Given the description of an element on the screen output the (x, y) to click on. 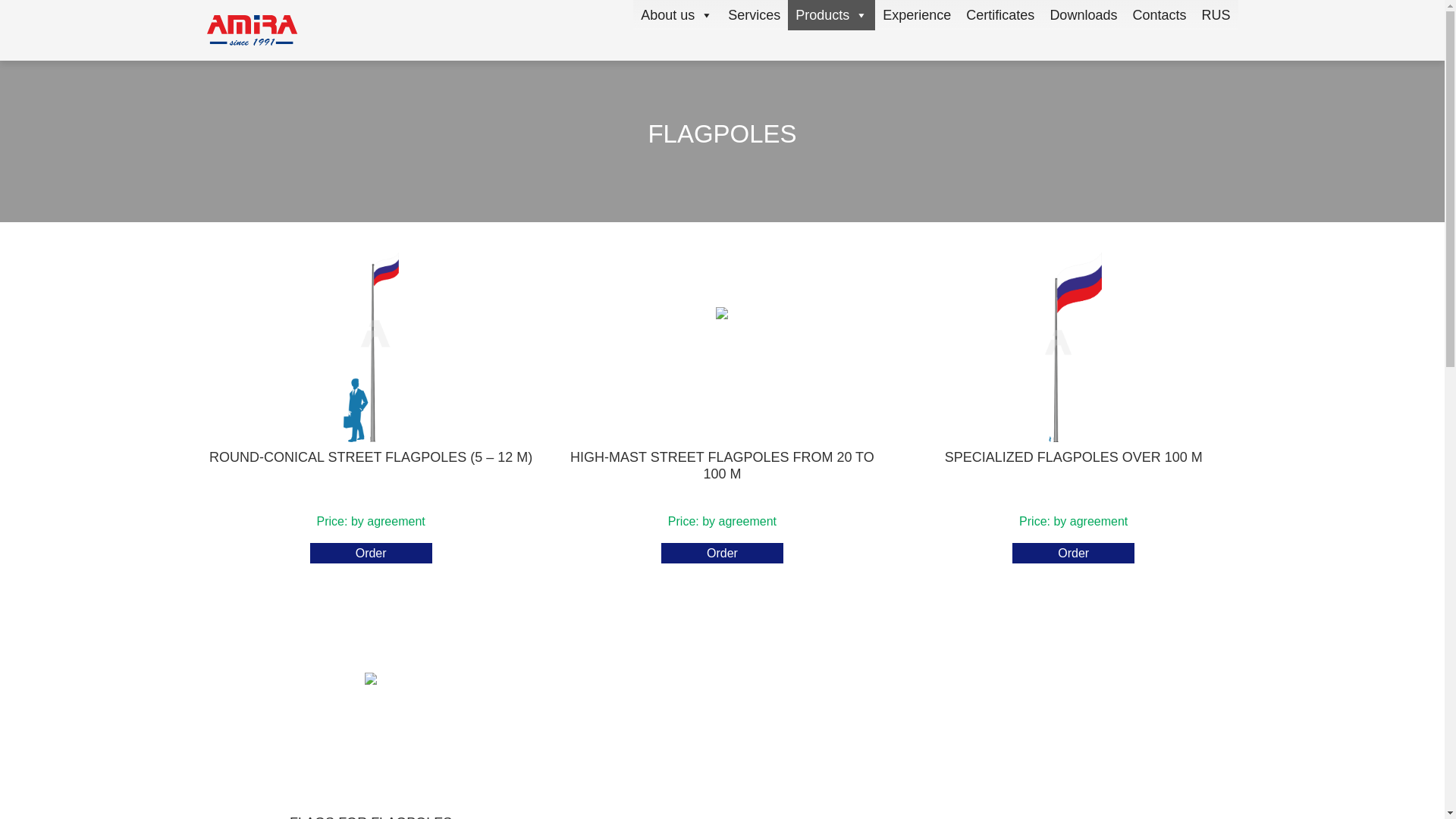
Contacts (1158, 15)
Downloads (1083, 15)
Amira Group (251, 30)
Experience (916, 15)
Order (722, 552)
Services (753, 15)
Products (831, 15)
HIGH-MAST STREET FLAGPOLES FROM 20 TO 100 M (721, 375)
RUS (1215, 15)
Order (1072, 552)
